Given the description of an element on the screen output the (x, y) to click on. 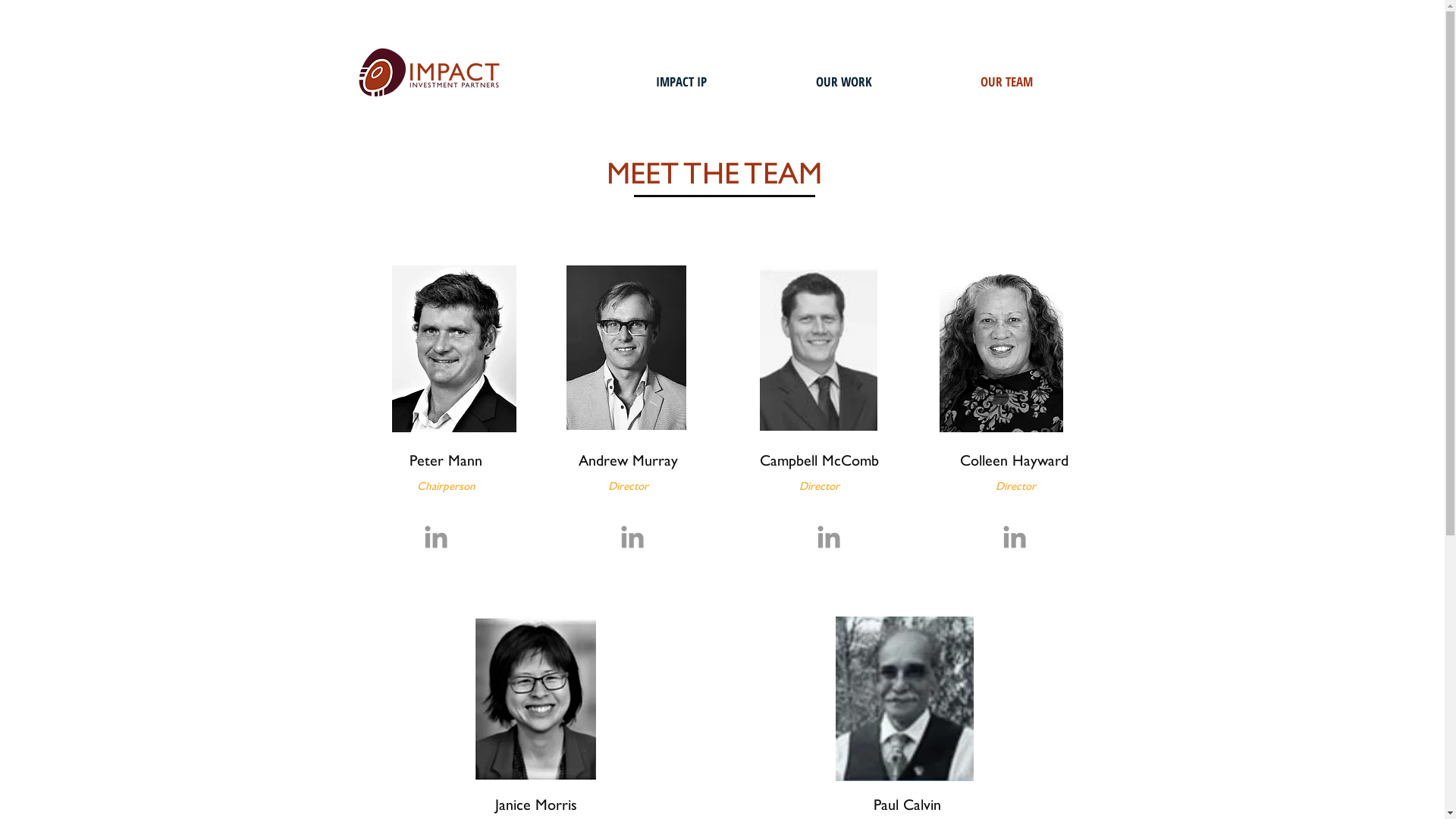
IMPACT IP Element type: text (680, 81)
ae43d1_f8e19c61e27e49d58965d0535b015ac6~mv2.png Element type: hover (904, 698)
OUR TEAM Element type: text (1006, 81)
ae43d1_be9be8652fdb40229fd39ba1446c558b~mv2.png Element type: hover (1000, 349)
ae43d1_be9be8652fdb40229fd39ba1446c558b~mv2.png Element type: hover (536, 698)
Campbell.jpeg Element type: hover (818, 348)
